Given the description of an element on the screen output the (x, y) to click on. 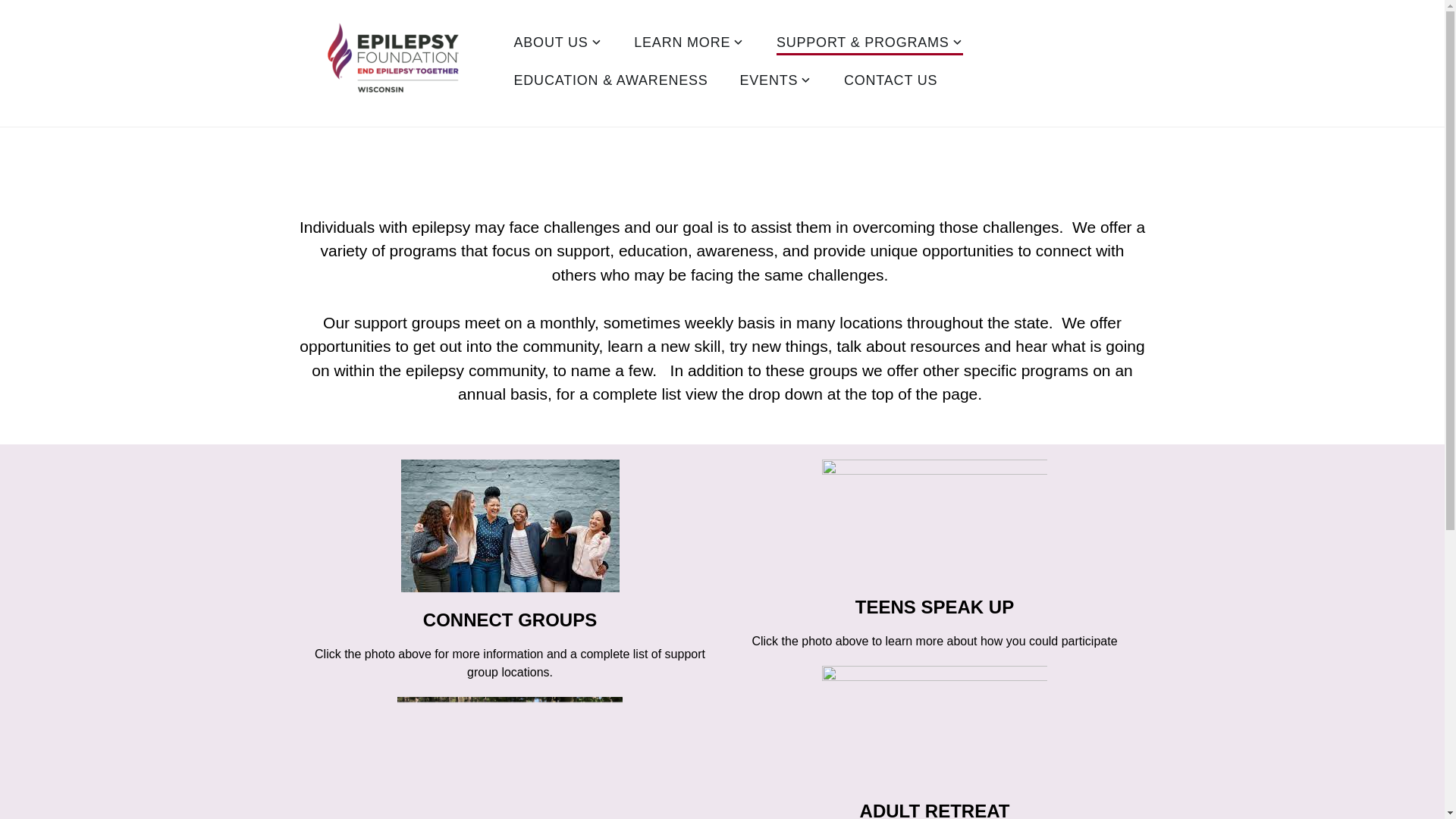
LEARN MORE (688, 43)
ABOUT US (557, 43)
EPILEPSY WISCONSIN (371, 142)
CONTACT US (890, 81)
ADULT RETREAT (935, 809)
TEENS SPEAK UP (934, 607)
EVENTS (775, 81)
CONNECT GROUPS (509, 619)
